Given the description of an element on the screen output the (x, y) to click on. 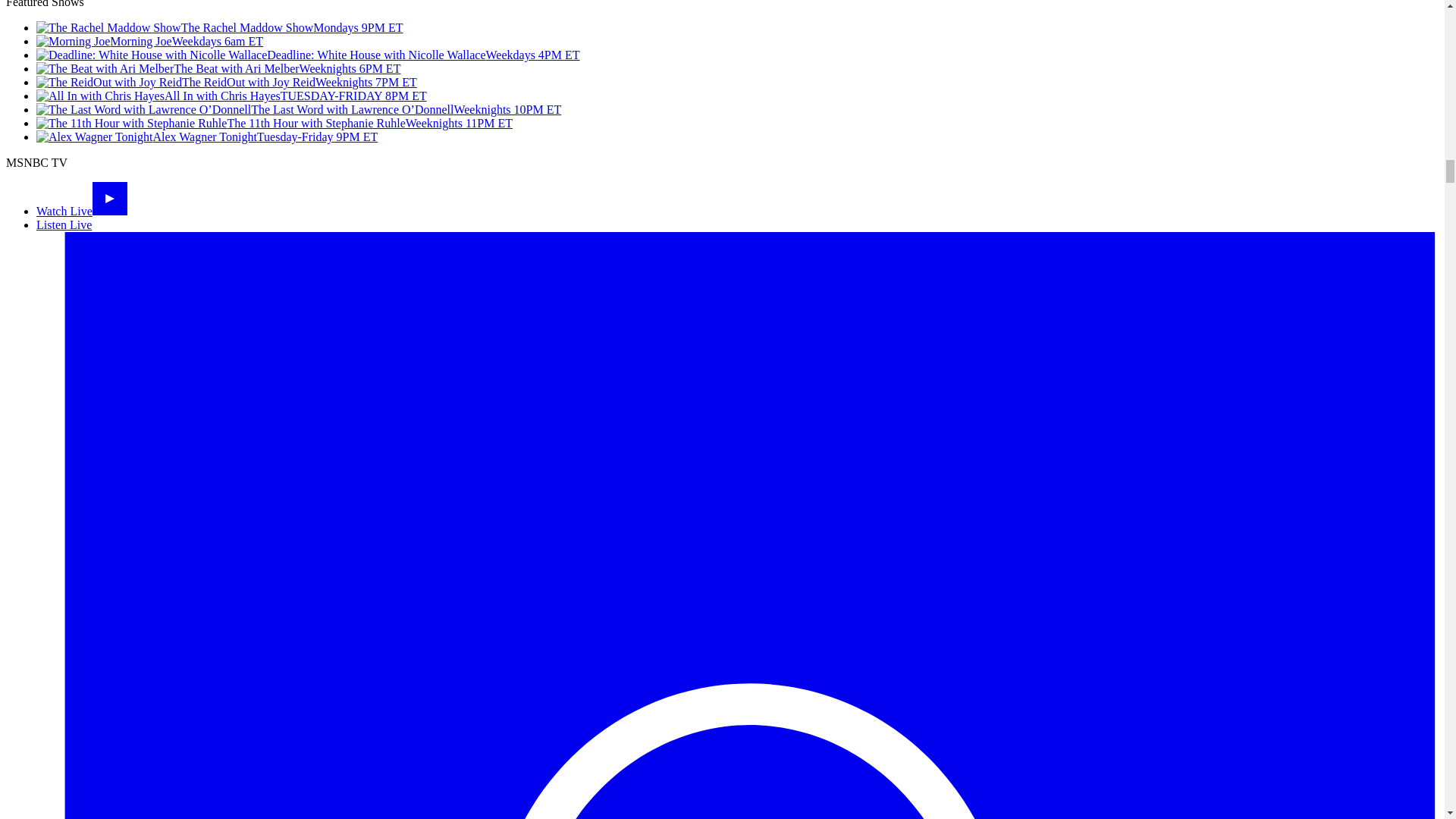
The Rachel Maddow ShowMondays 9PM ET (219, 27)
All In with Chris HayesTUESDAY-FRIDAY 8PM ET (231, 95)
Alex Wagner TonightTuesday-Friday 9PM ET (206, 136)
The Beat with Ari MelberWeeknights 6PM ET (218, 68)
The 11th Hour with Stephanie RuhleWeeknights 11PM ET (274, 123)
Deadline: White House with Nicolle WallaceWeekdays 4PM ET (307, 54)
Morning JoeWeekdays 6am ET (149, 41)
The ReidOut with Joy ReidWeeknights 7PM ET (226, 82)
Watch Live (82, 210)
